Given the description of an element on the screen output the (x, y) to click on. 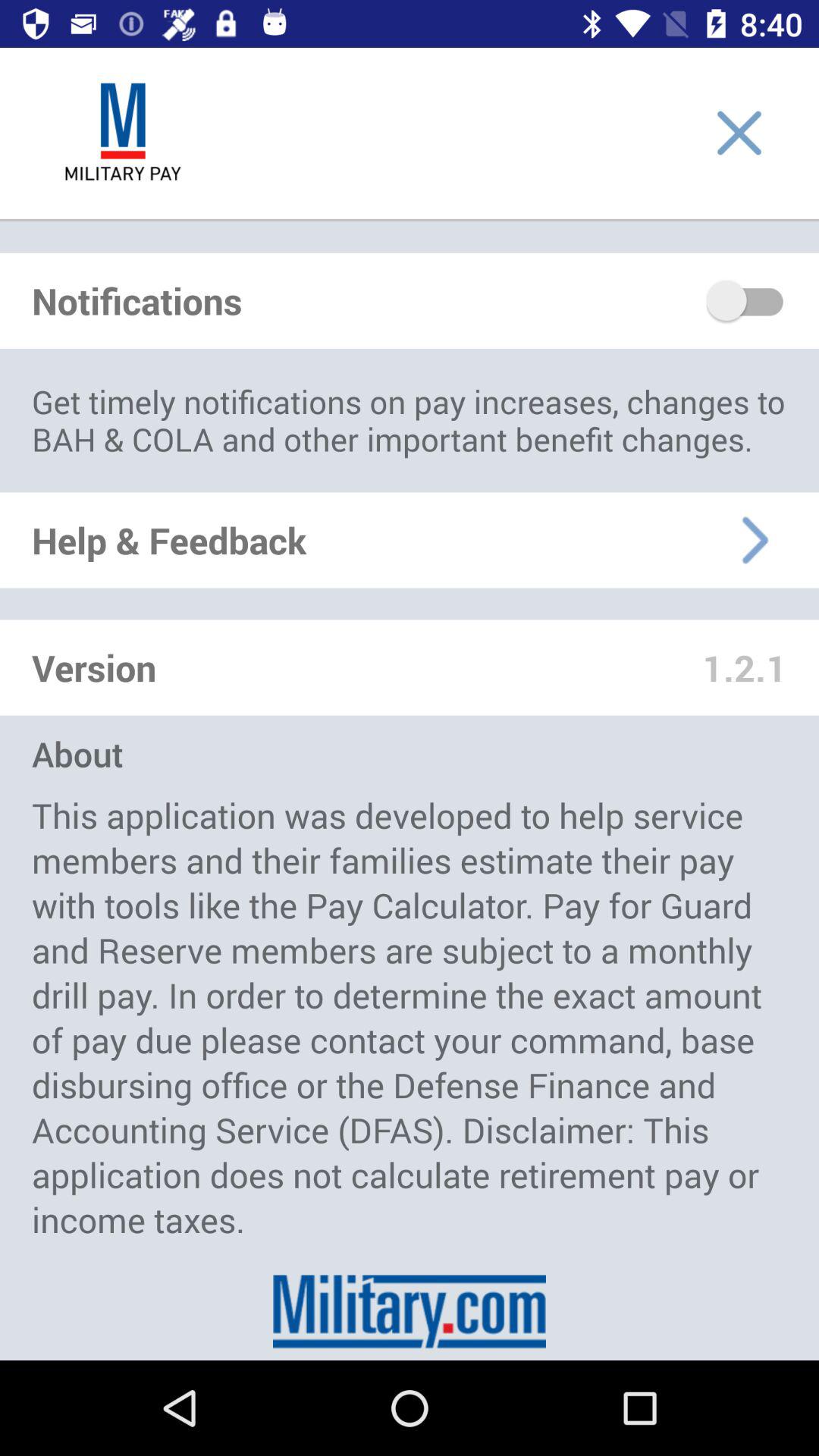
logo (123, 132)
